Given the description of an element on the screen output the (x, y) to click on. 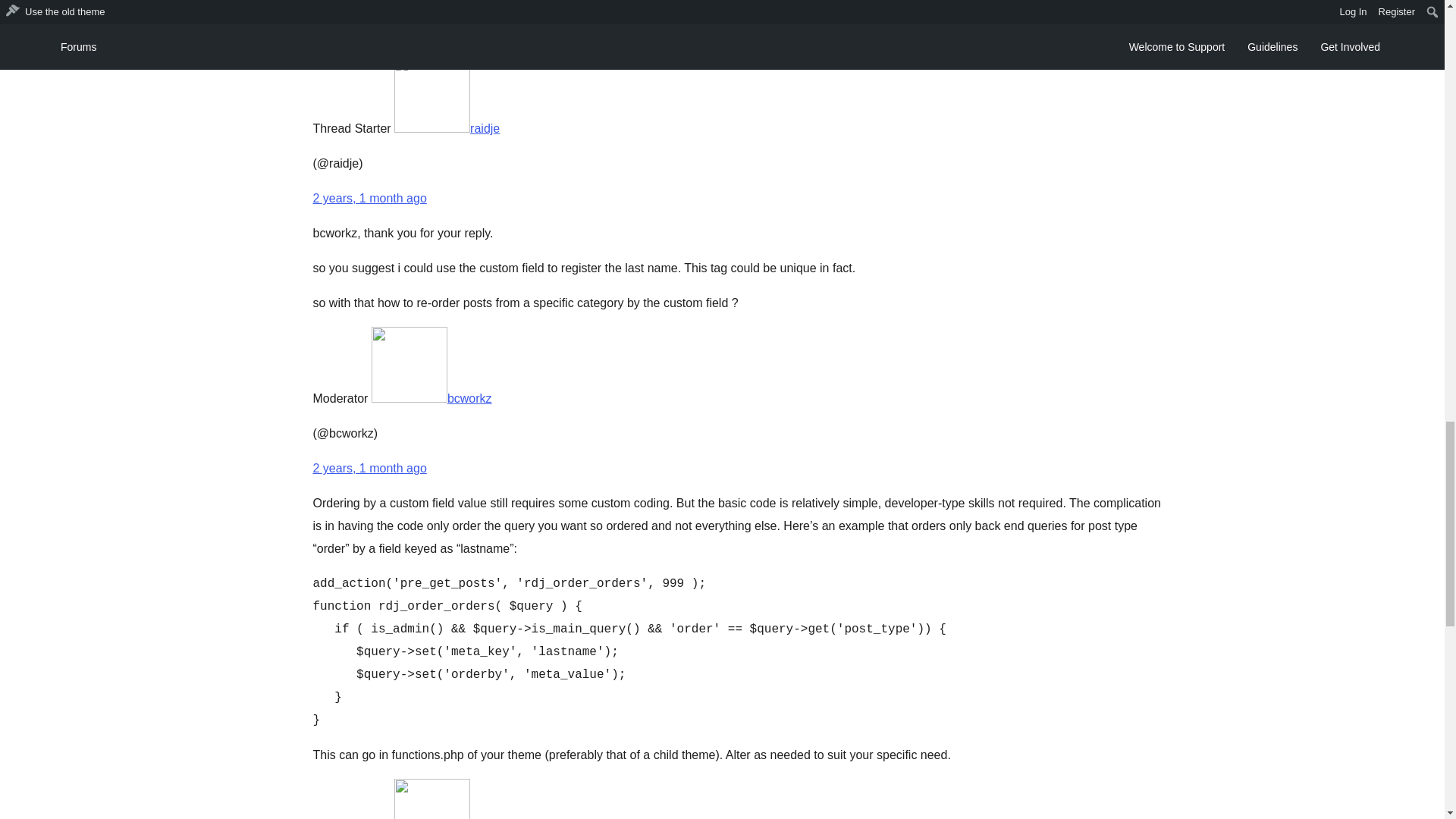
View bcworkz's profile (431, 398)
View raidje's profile (446, 128)
This person is a moderator on this forum (340, 398)
This person created the thread (351, 128)
July 1, 2022 at 8:03 am (369, 197)
July 1, 2022 at 4:20 pm (369, 468)
